Given the description of an element on the screen output the (x, y) to click on. 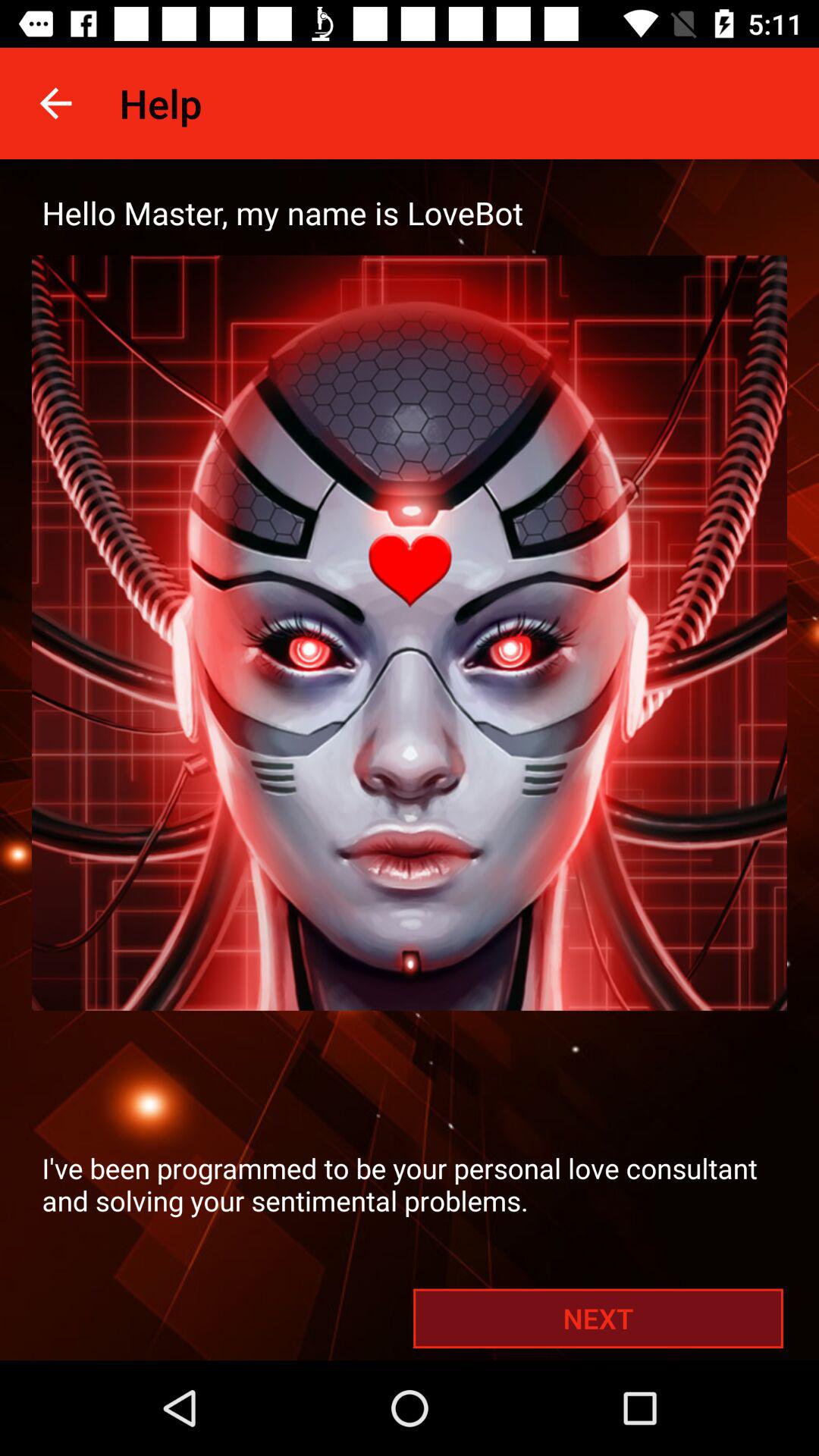
choose the next at the bottom right corner (598, 1318)
